Given the description of an element on the screen output the (x, y) to click on. 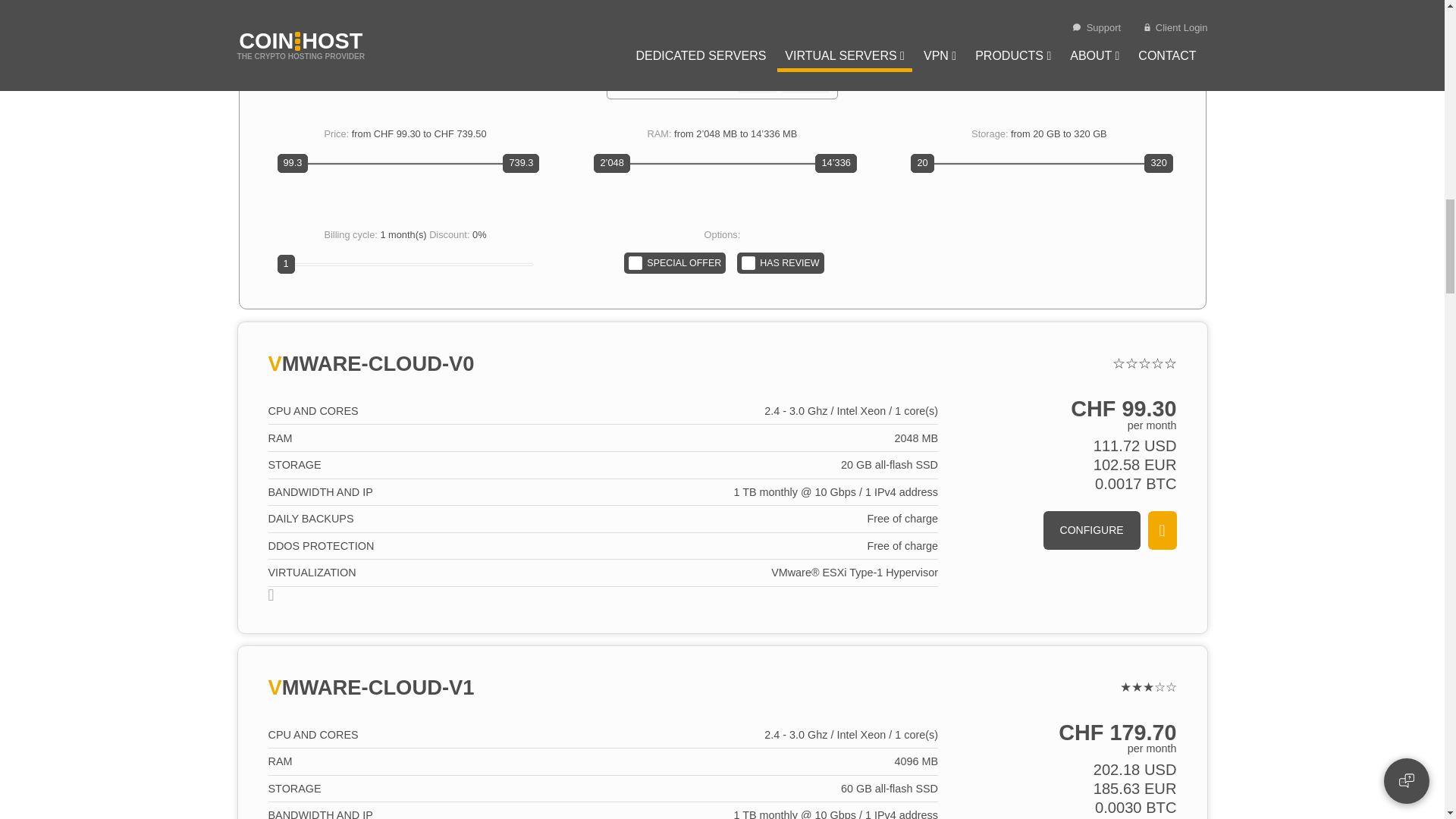
Average rating: 3 out of 5 (1147, 686)
RESET (757, 83)
Not rated yet (1144, 363)
